Given the description of an element on the screen output the (x, y) to click on. 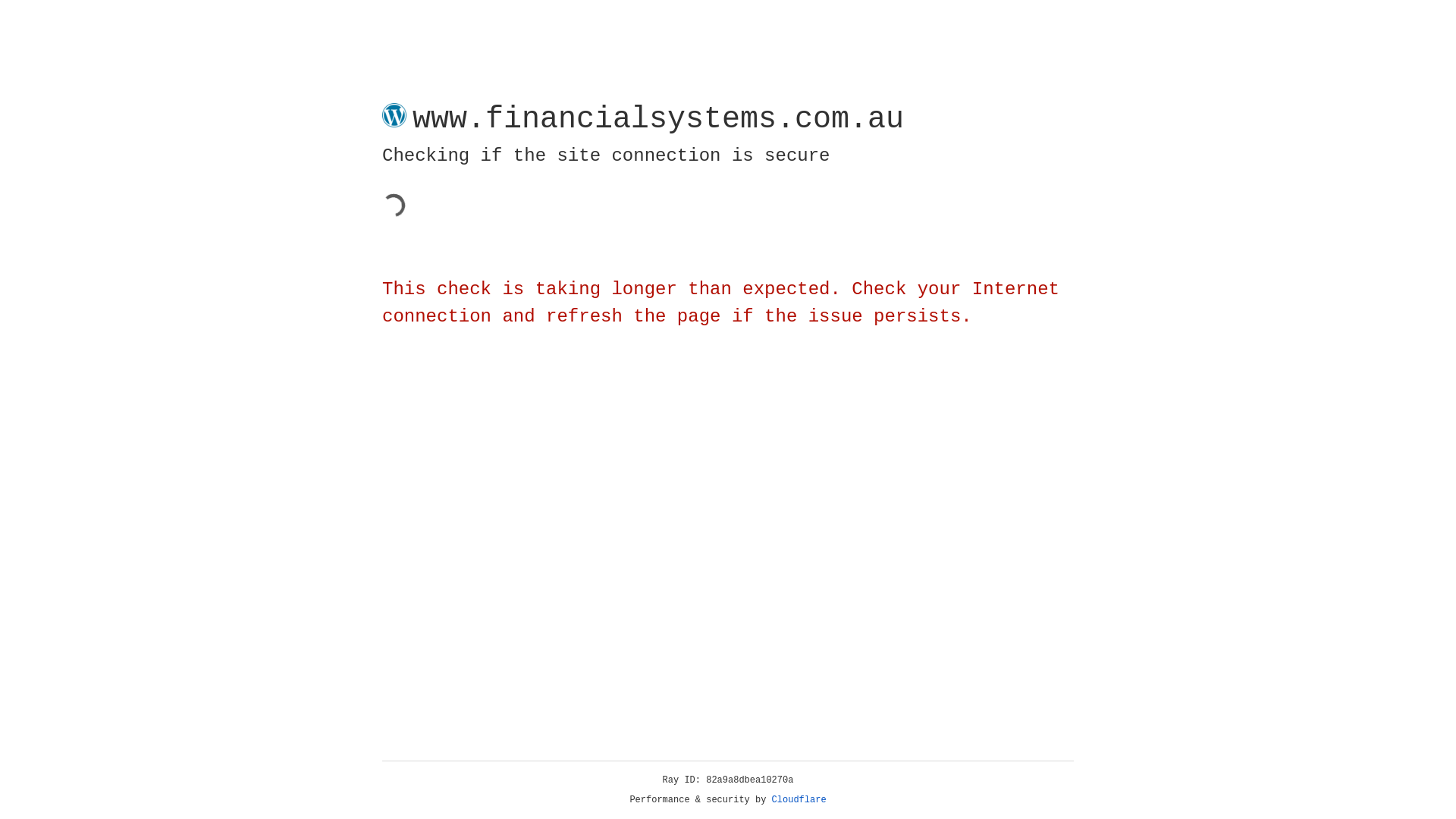
Cloudflare Element type: text (798, 799)
